Given the description of an element on the screen output the (x, y) to click on. 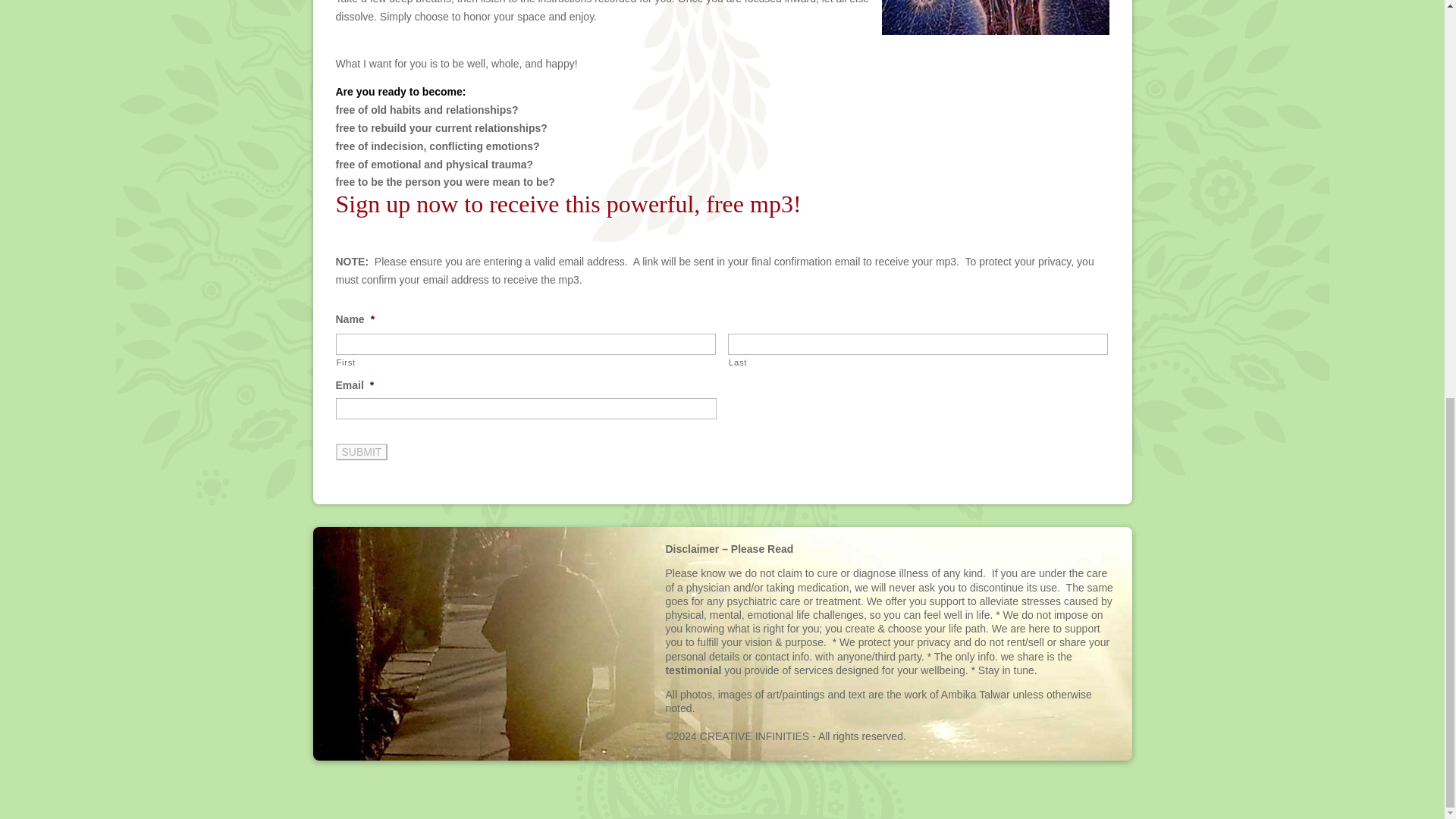
SUBMIT (360, 451)
